Given the description of an element on the screen output the (x, y) to click on. 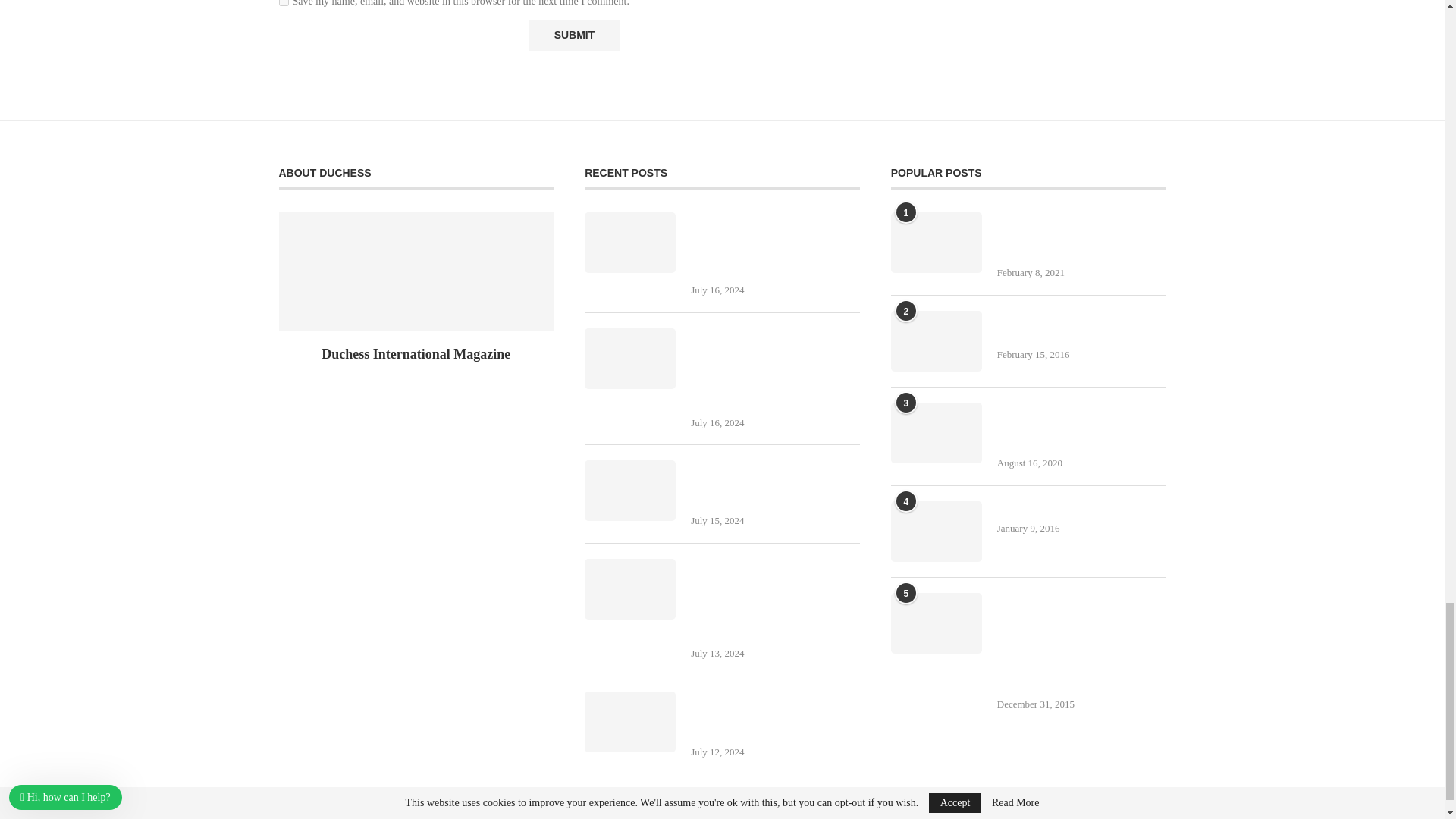
Submit (574, 34)
yes (283, 2)
